Given the description of an element on the screen output the (x, y) to click on. 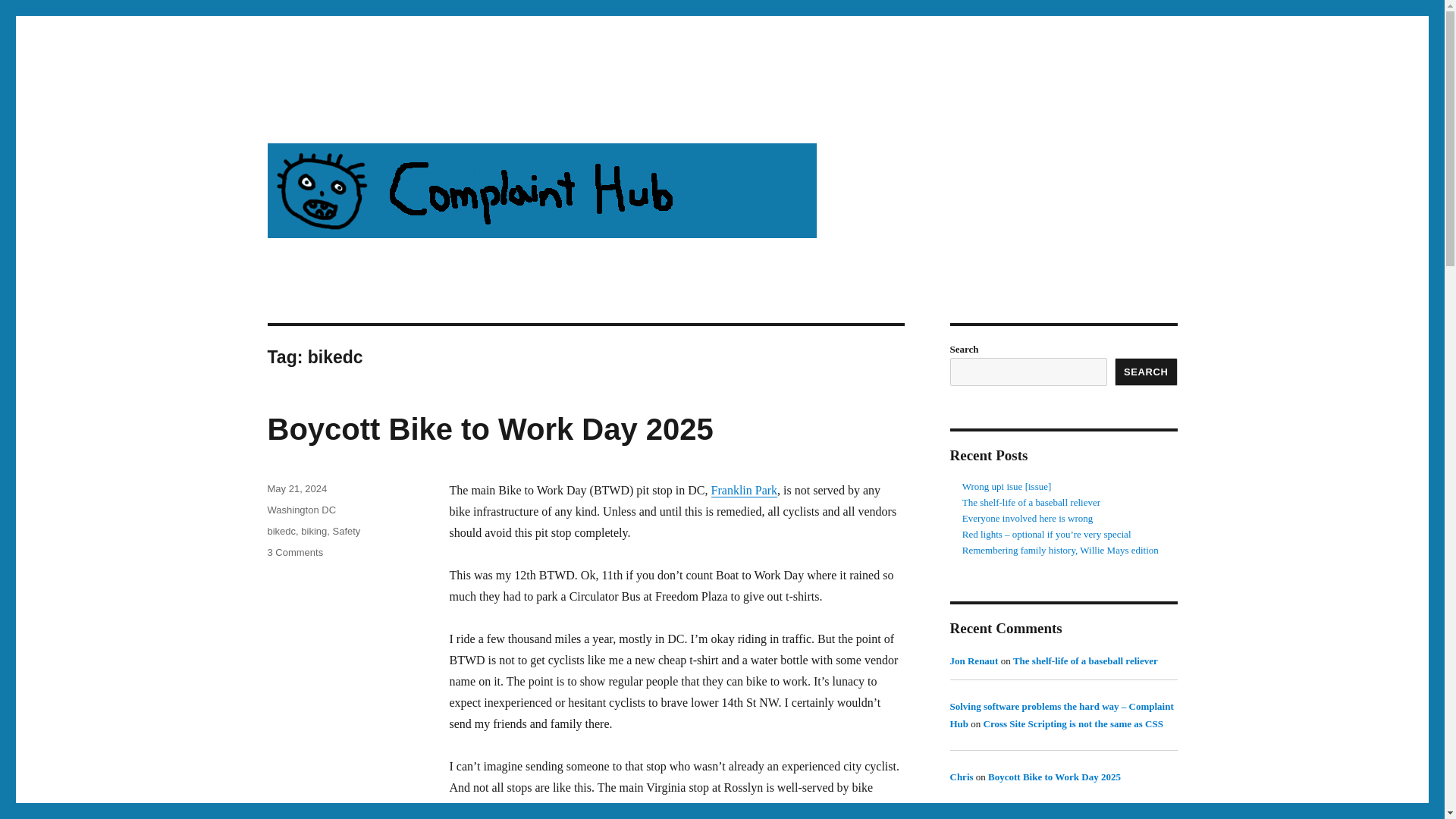
The shelf-life of a baseball reliever (1085, 660)
Cross Site Scripting is not the same as CSS (1073, 723)
bikedc (280, 531)
Jon Renaut (973, 660)
The shelf-life of a baseball reliever (1031, 501)
Boycott Bike to Work Day 2025 (489, 428)
Franklin Park (744, 490)
Chris (960, 776)
Washington DC (301, 509)
Remembering family history, Willie Mays edition (1060, 550)
